Given the description of an element on the screen output the (x, y) to click on. 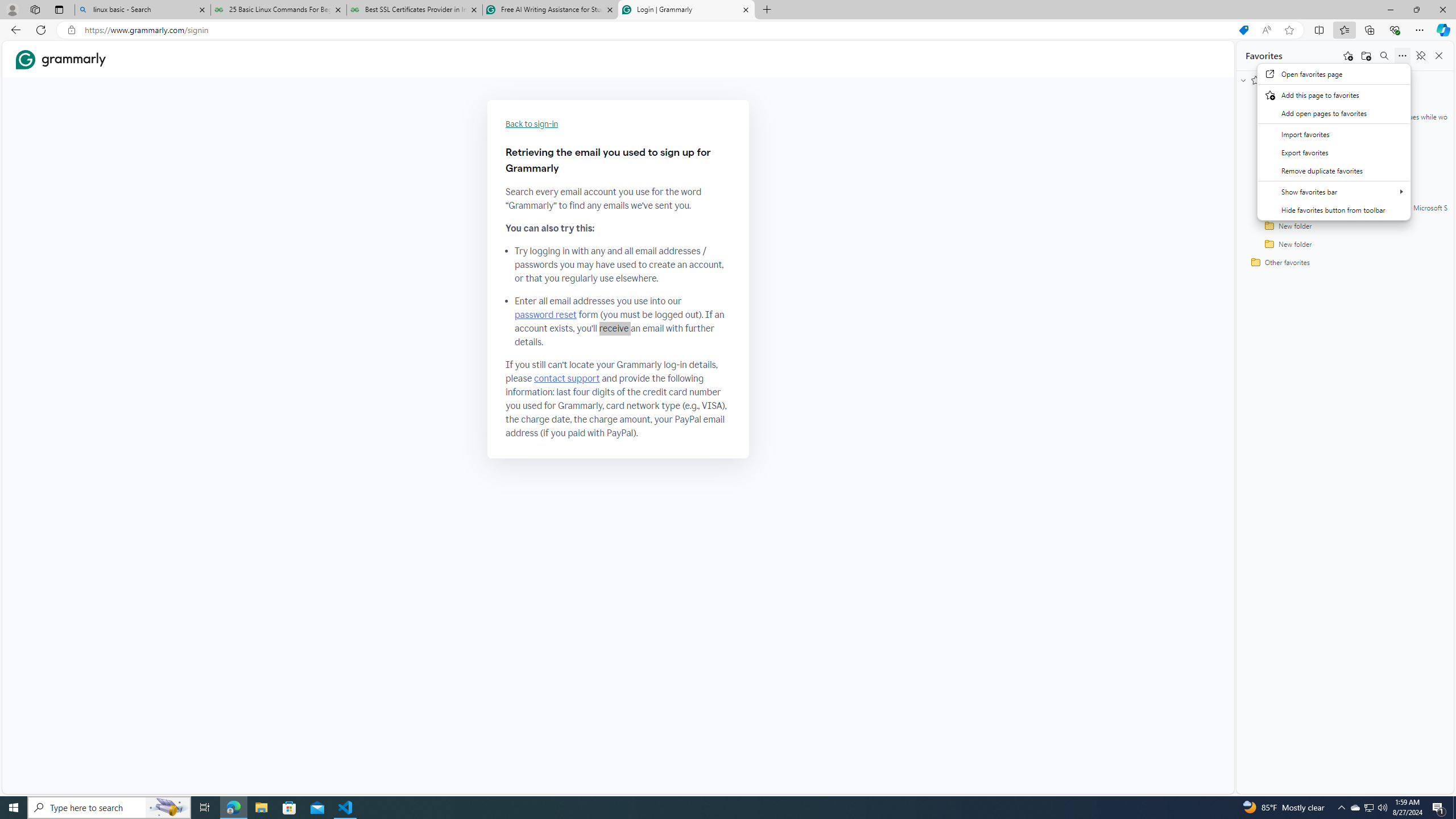
Shopping in Microsoft Edge (1243, 29)
Hide favorites button from toolbar (1333, 209)
Export favorites (1333, 152)
Add this page to favorites (1333, 94)
Login | Grammarly (685, 9)
Add this page to favorites (1347, 55)
contact support (566, 378)
Best SSL Certificates Provider in India - GeeksforGeeks (414, 9)
